Given the description of an element on the screen output the (x, y) to click on. 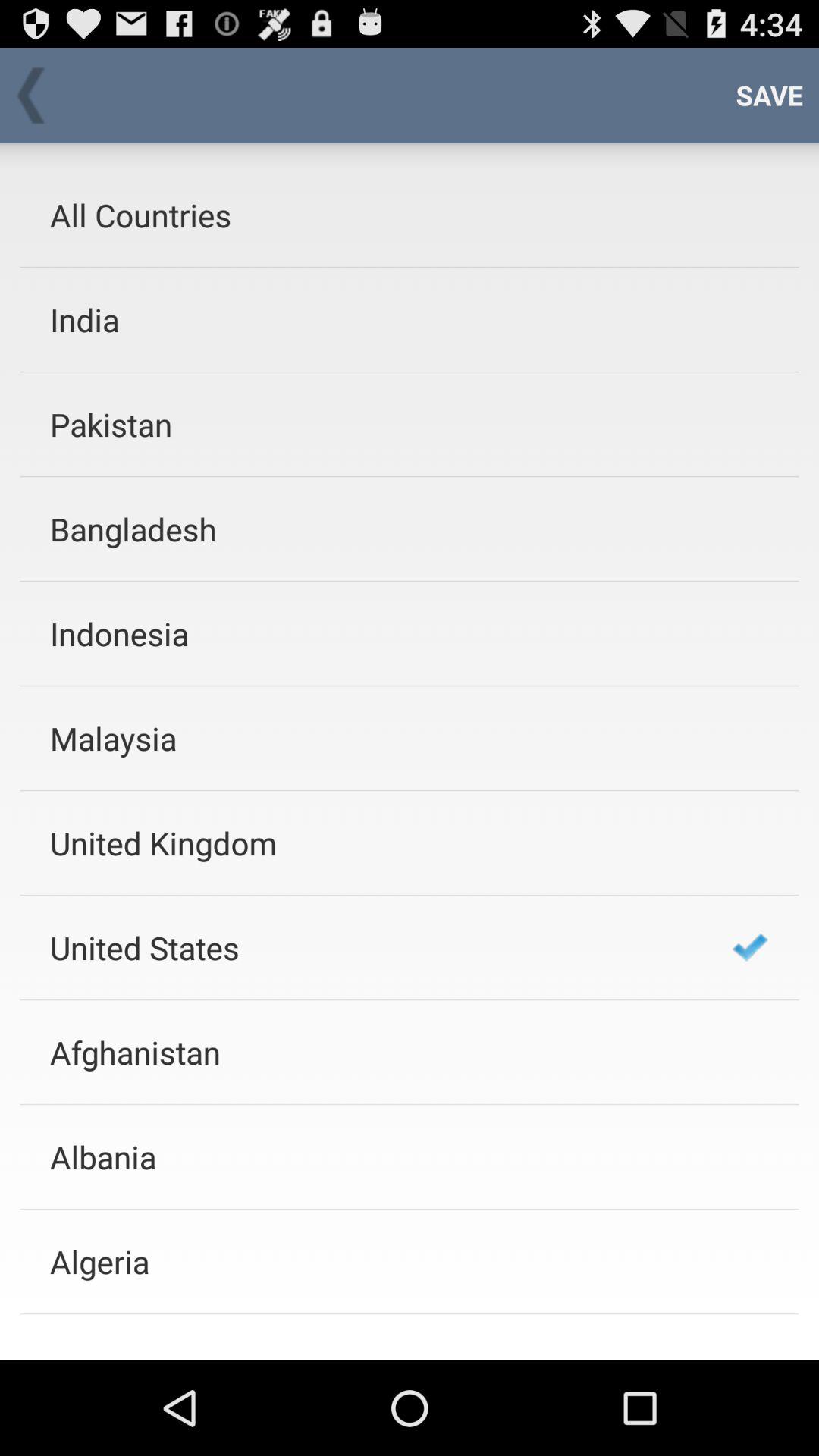
jump until indonesia (371, 633)
